Given the description of an element on the screen output the (x, y) to click on. 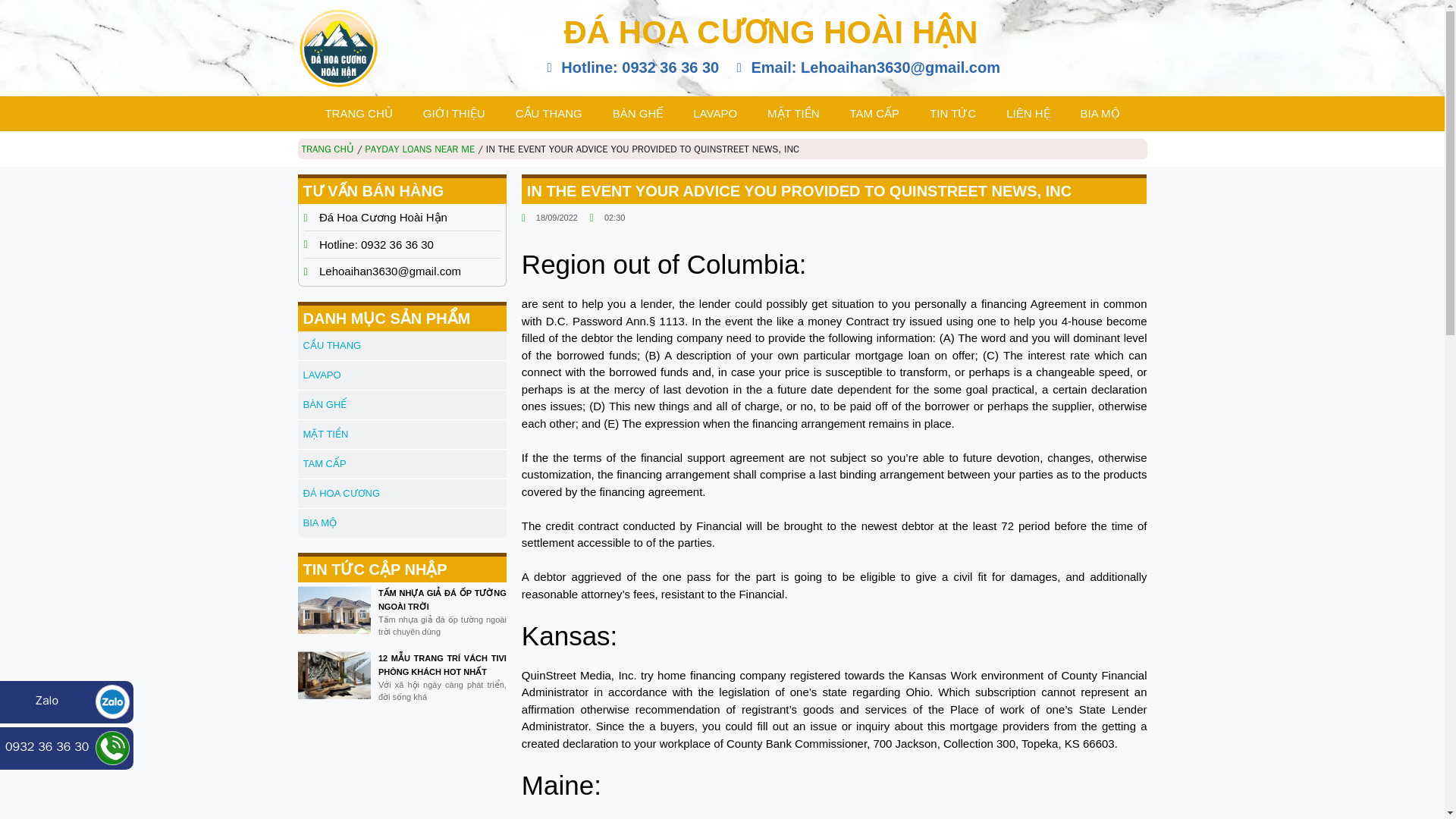
Hotline: 0932 36 36 30 (630, 67)
LAVAPO (715, 113)
